Given the description of an element on the screen output the (x, y) to click on. 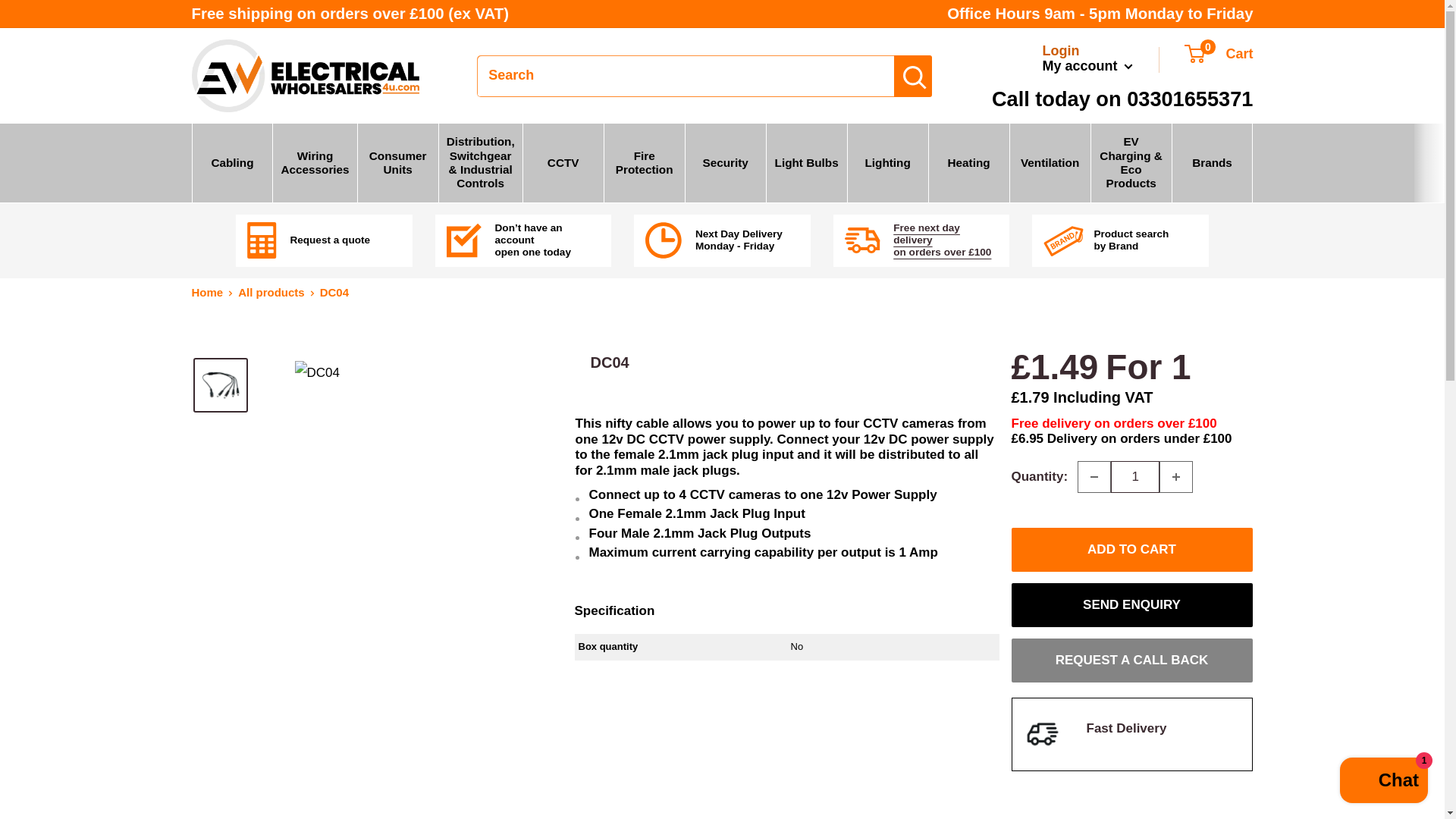
1 (1134, 477)
